Given the description of an element on the screen output the (x, y) to click on. 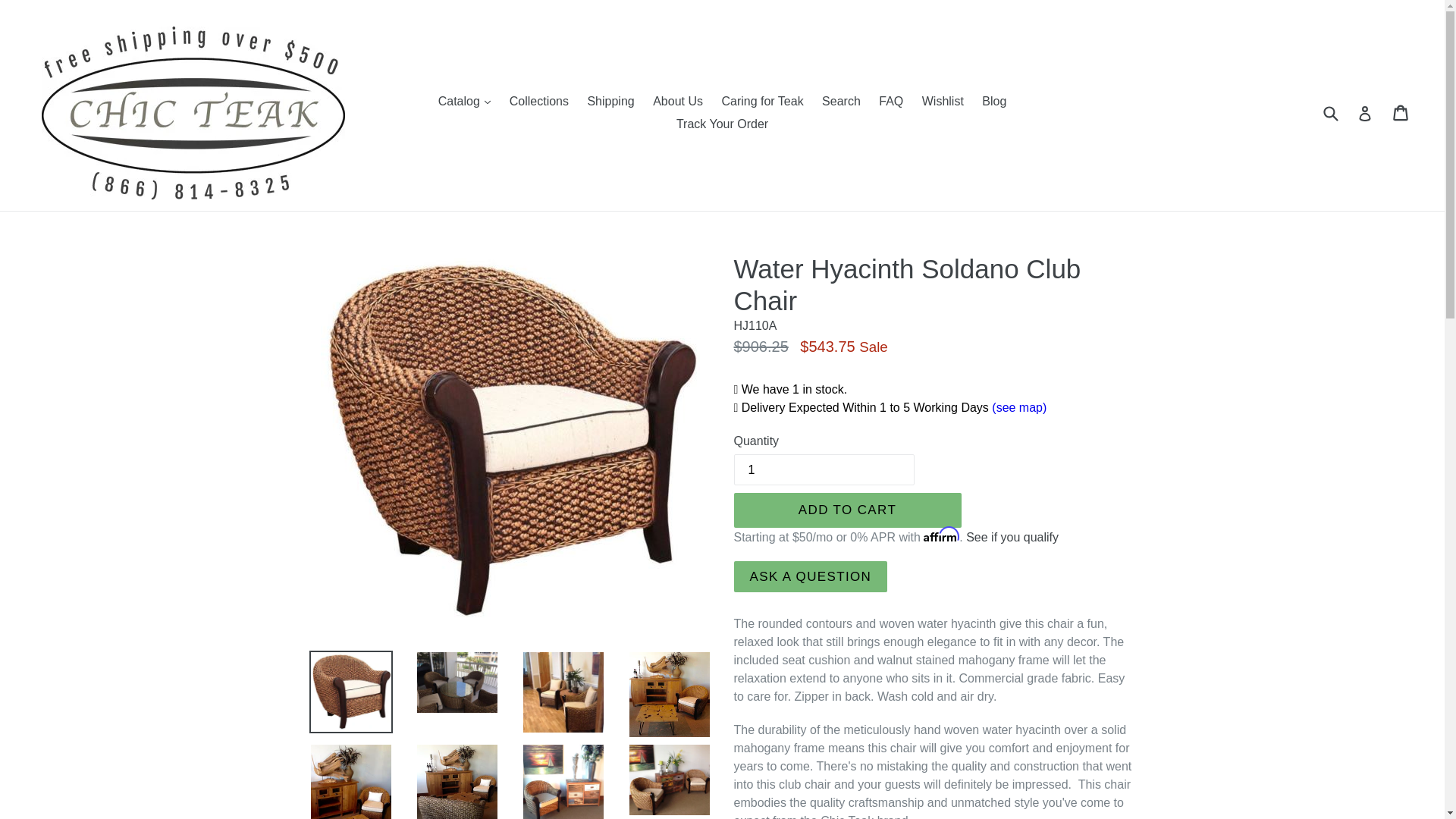
1 (823, 469)
